Given the description of an element on the screen output the (x, y) to click on. 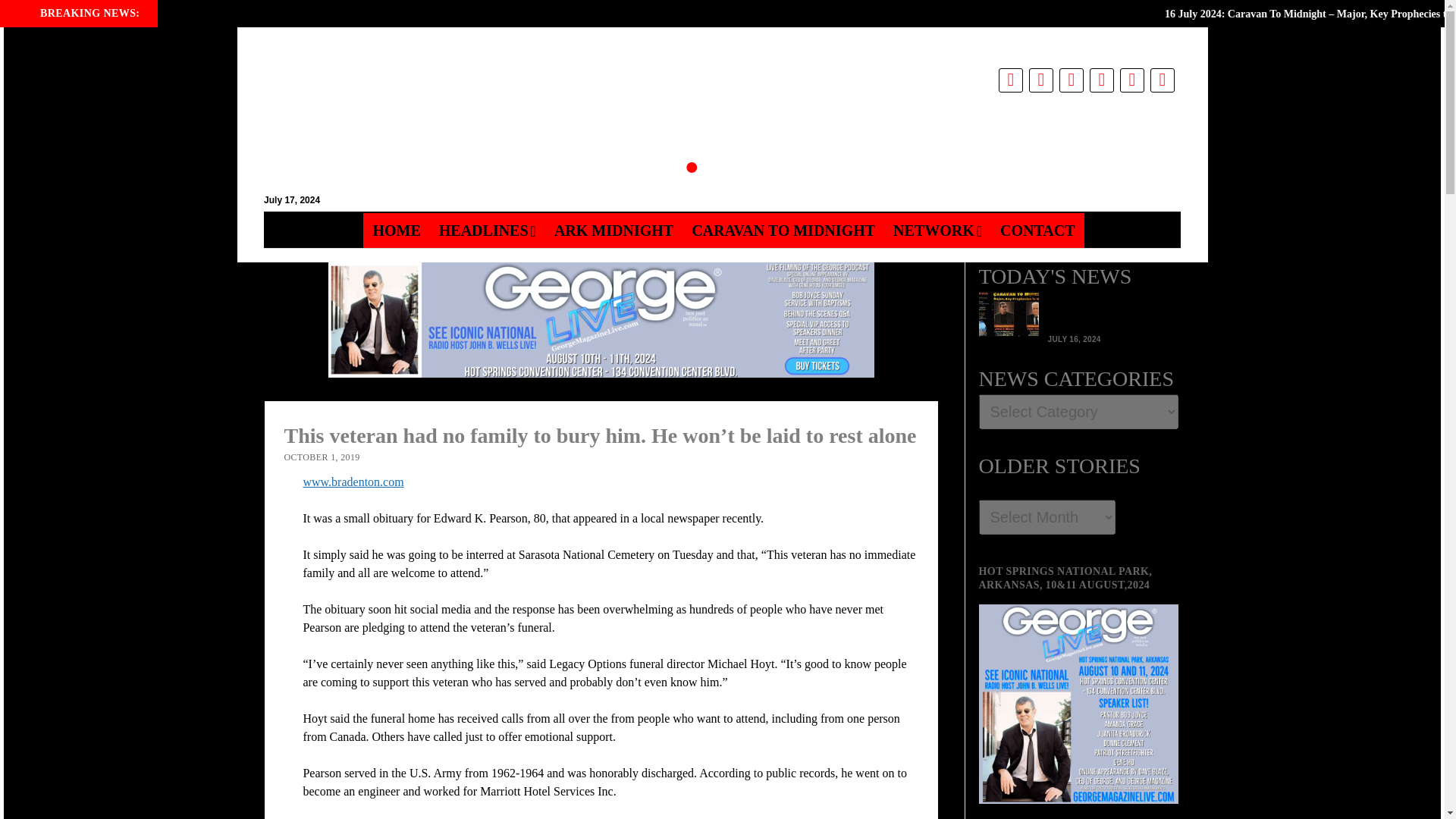
www.bradenton.com (352, 481)
CARAVAN TO MIDNIGHT (782, 230)
Search (945, 129)
phone (1101, 79)
CONTACT (1037, 230)
ARK MIDNIGHT (613, 230)
SEARCH (288, 50)
HEADLINES (486, 230)
NETWORK (937, 230)
HOME (395, 230)
